Given the description of an element on the screen output the (x, y) to click on. 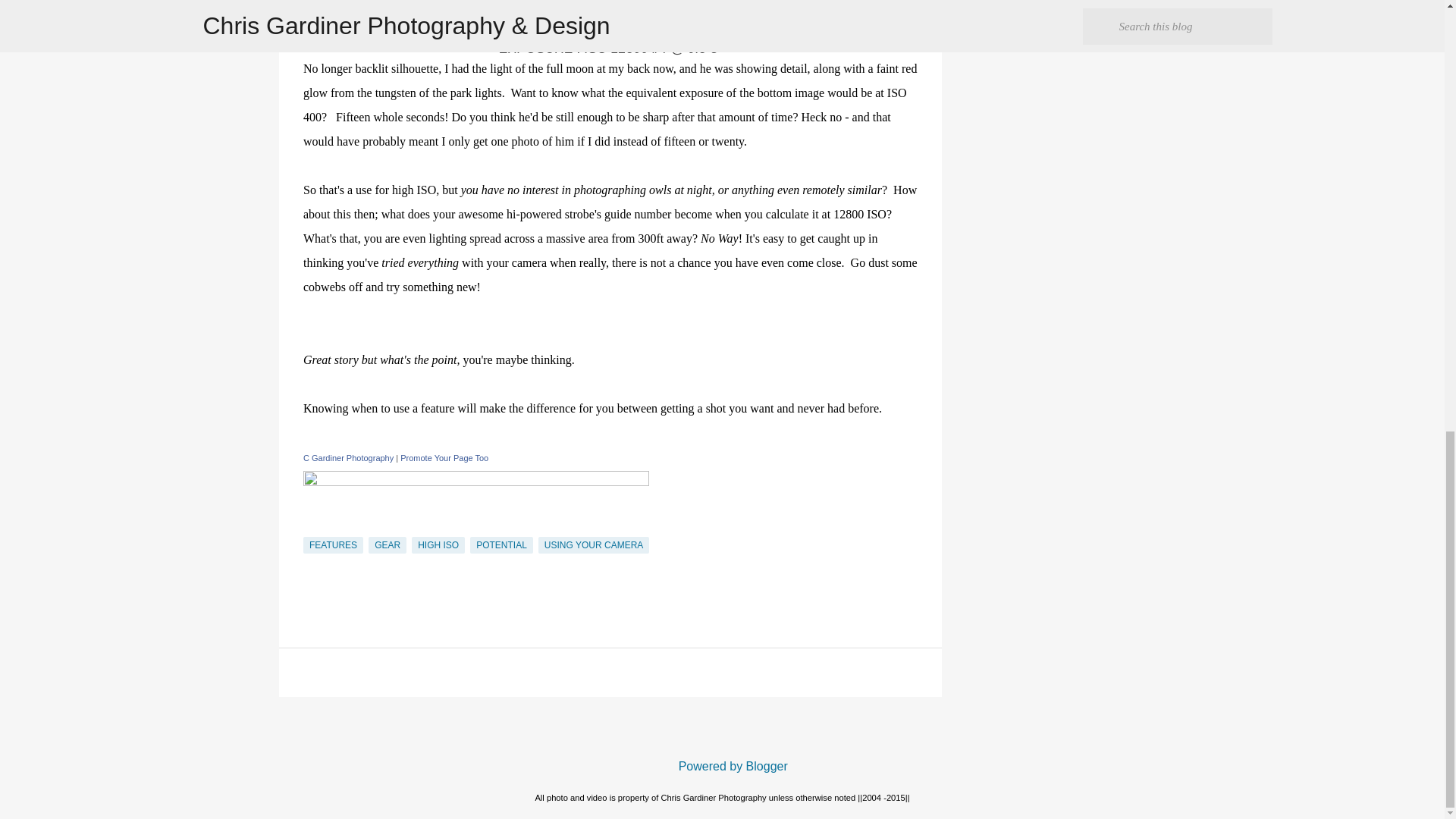
GEAR (387, 545)
POTENTIAL (501, 545)
Promote Your Page Too (443, 457)
C Gardiner Photography (347, 457)
Powered by Blogger (721, 766)
FEATURES (332, 545)
Make your own badge! (443, 457)
C Gardiner Photography (347, 457)
USING YOUR CAMERA (593, 545)
HIGH ISO (438, 545)
